Given the description of an element on the screen output the (x, y) to click on. 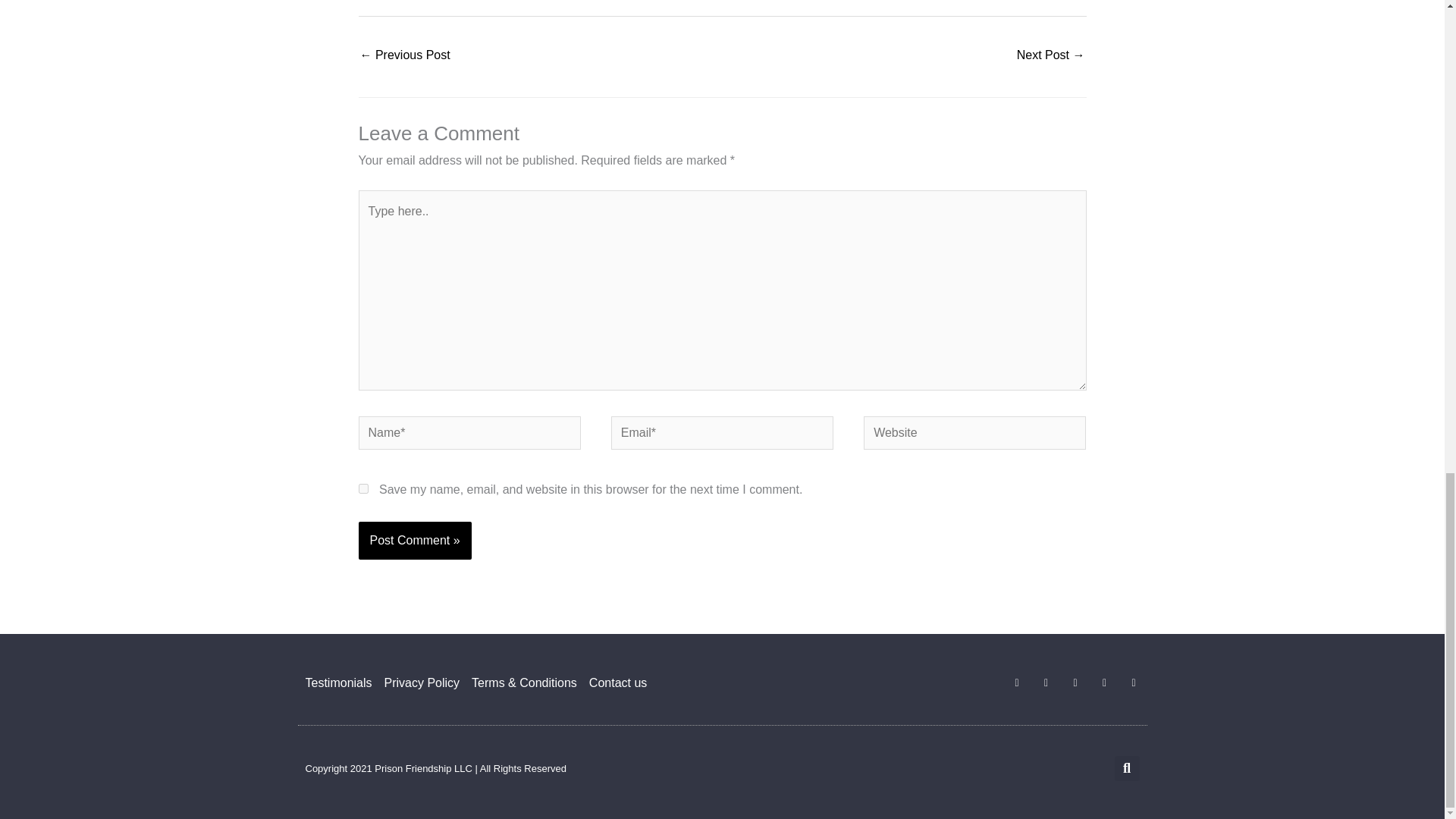
I need help (1050, 56)
yes (363, 488)
Just An Ordinary Joe (404, 56)
